Given the description of an element on the screen output the (x, y) to click on. 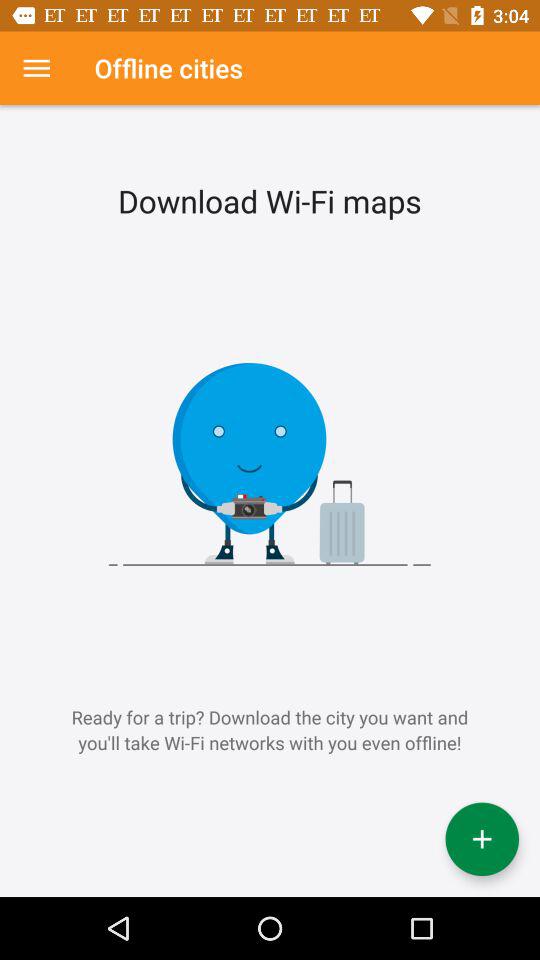
tap the icon next to offline cities item (36, 68)
